Given the description of an element on the screen output the (x, y) to click on. 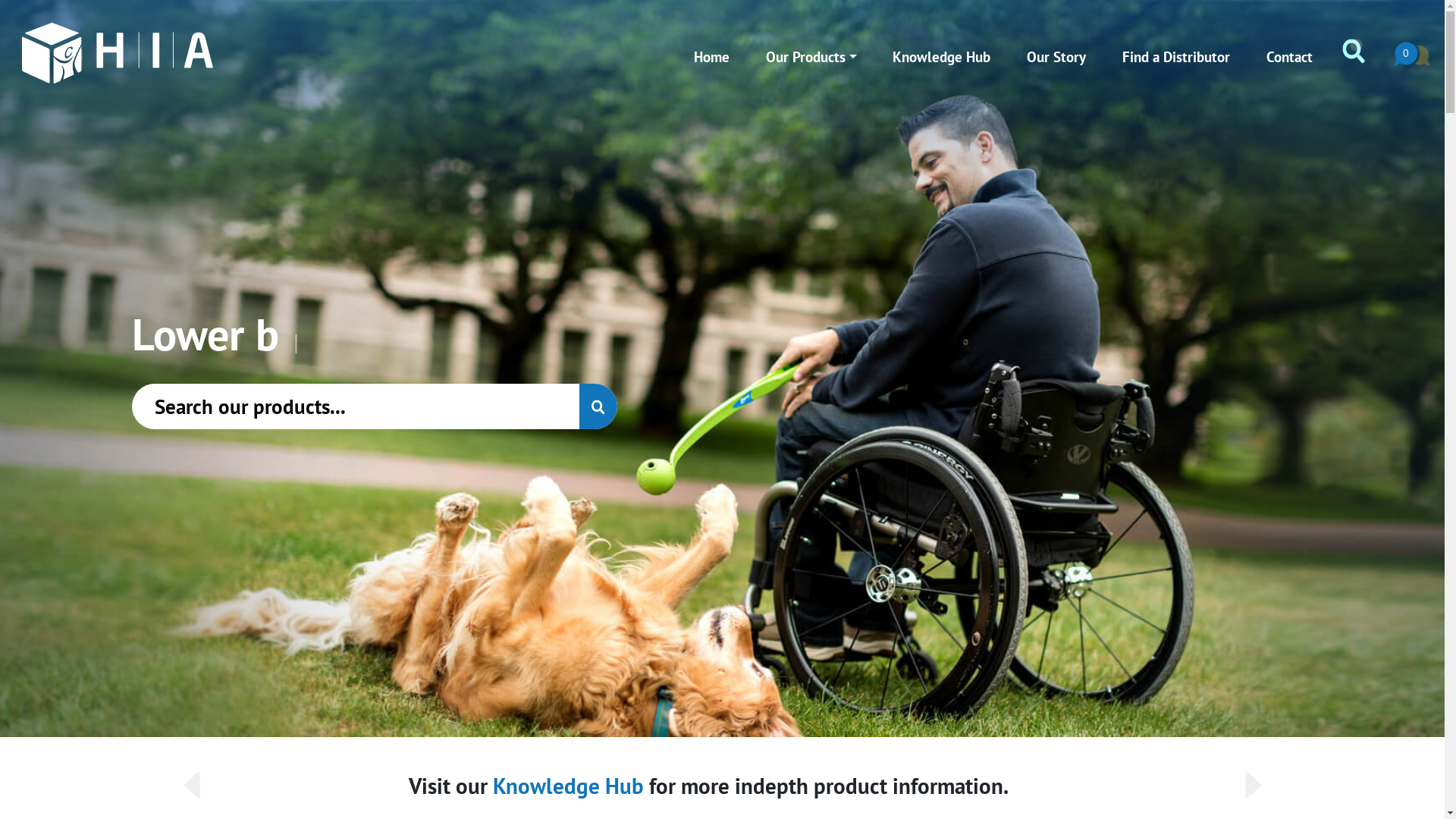
Our Products Element type: text (810, 56)
Knowledge Hub Element type: text (941, 56)
Contact Element type: text (1289, 56)
Knowledge Hub Element type: text (581, 785)
Our Story Element type: text (1056, 56)
Find a Distributor Element type: text (1176, 56)
Home Element type: text (711, 56)
0 Element type: text (1411, 56)
